Given the description of an element on the screen output the (x, y) to click on. 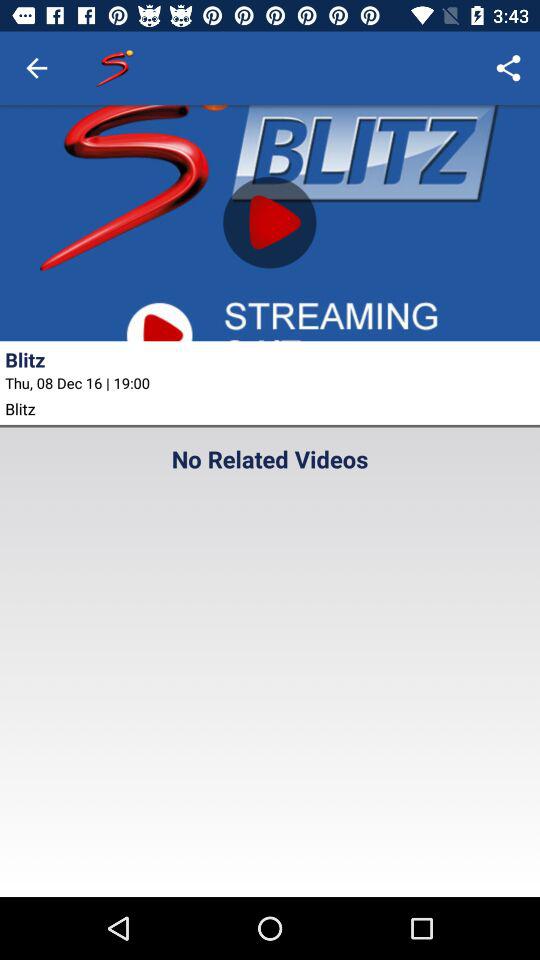
click the icon at the top right corner (508, 67)
